Given the description of an element on the screen output the (x, y) to click on. 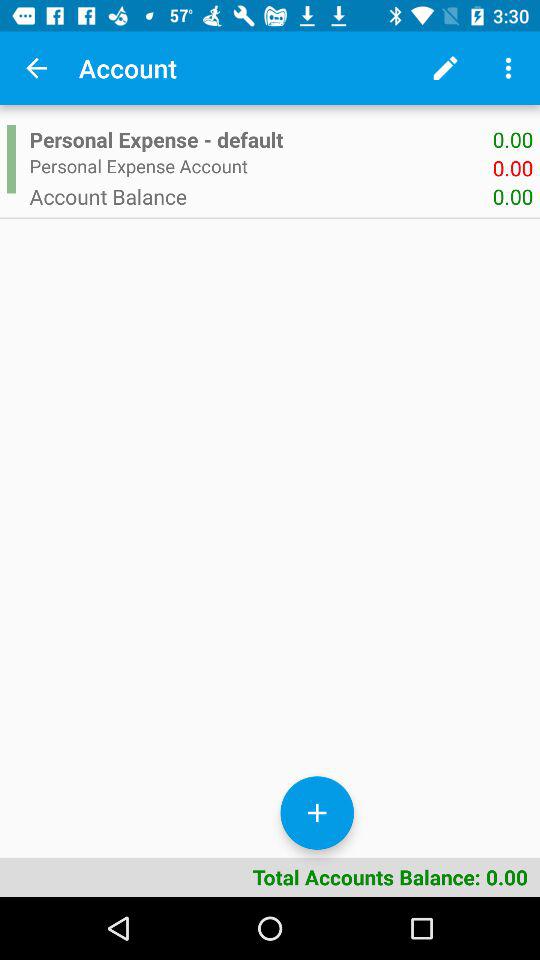
no tagging (36, 67)
select add button from the bottom of the screen (317, 812)
select the more options icon on the top left corner (508, 68)
click on the edit icon which is beside the text account (445, 68)
